Given the description of an element on the screen output the (x, y) to click on. 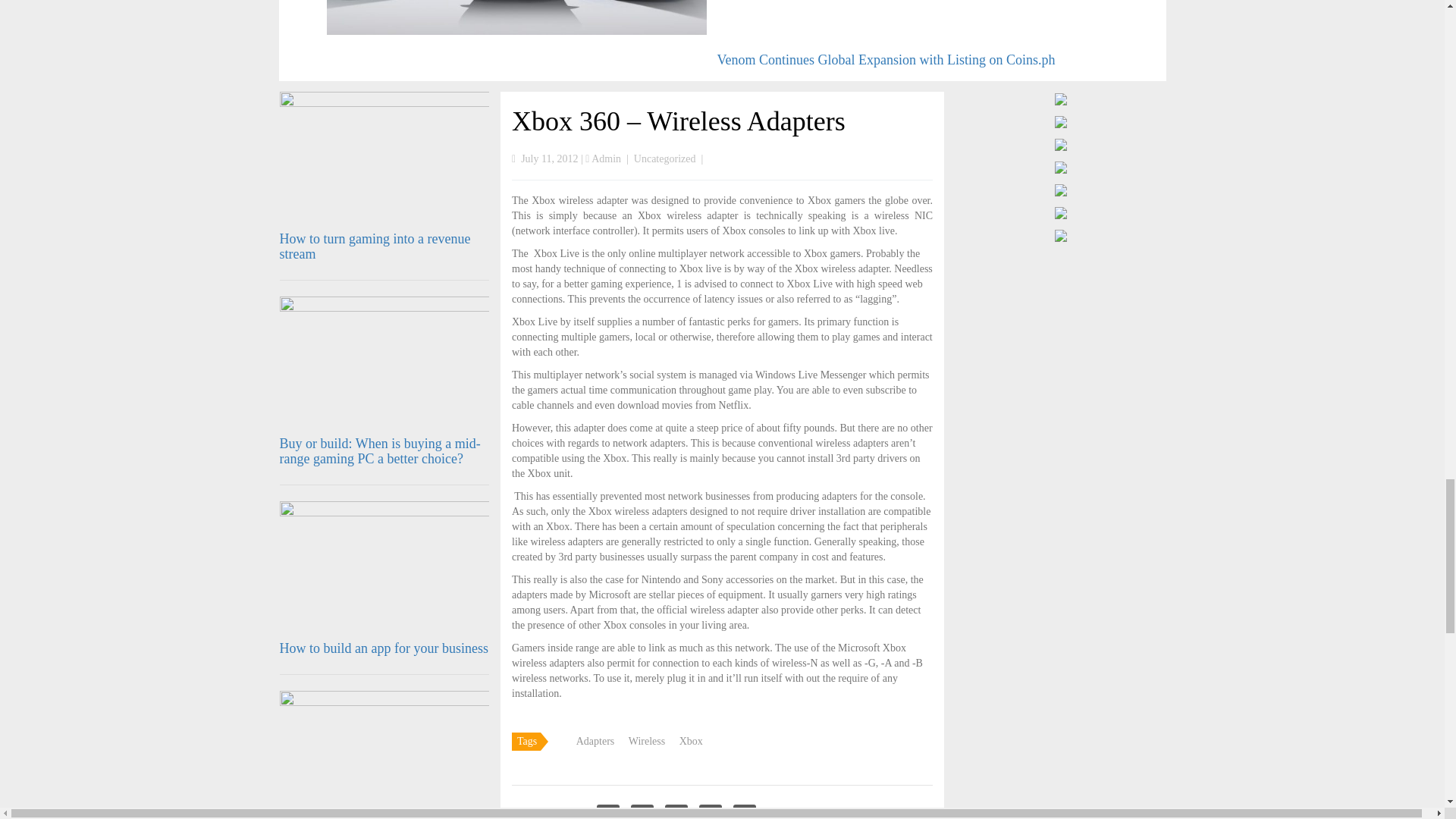
Venom Continues Global Expansion with Listing on Coins.ph (886, 59)
Share on Facebook (608, 811)
How to build an app for your business (383, 648)
Posts by Admin (606, 158)
How to turn gaming into a revenue stream (374, 245)
Venom Continues Global Expansion with Listing on Coins.ph (886, 59)
